Given the description of an element on the screen output the (x, y) to click on. 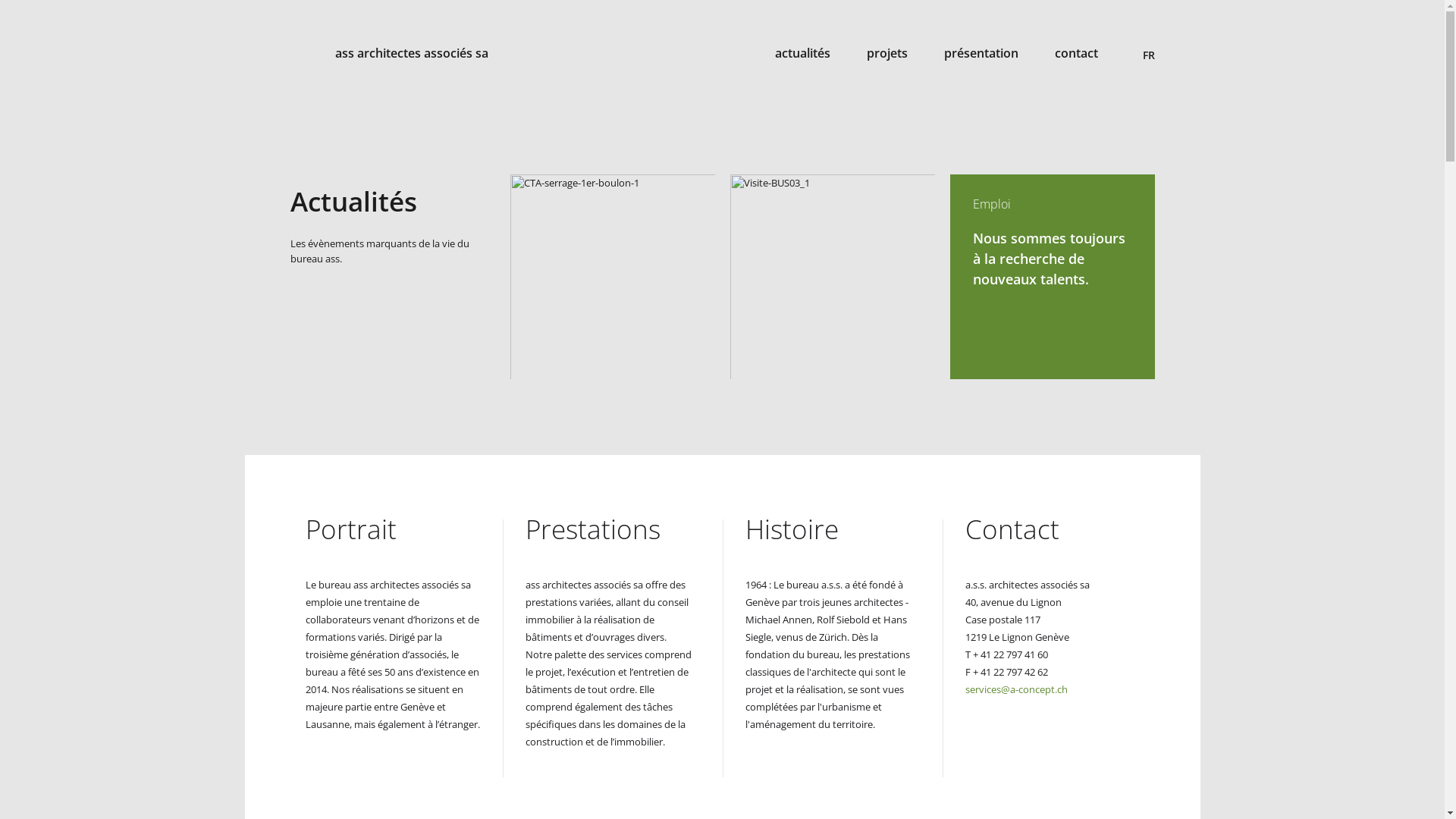
Histoire Element type: text (790, 528)
Skip to content Element type: text (0, 98)
services@a-concept.ch Element type: text (1015, 689)
Prestations Element type: text (591, 528)
Search Element type: text (1147, 27)
Portrait Element type: text (349, 528)
Contact Element type: text (1011, 528)
contact Element type: text (1075, 52)
projets Element type: text (886, 52)
